Given the description of an element on the screen output the (x, y) to click on. 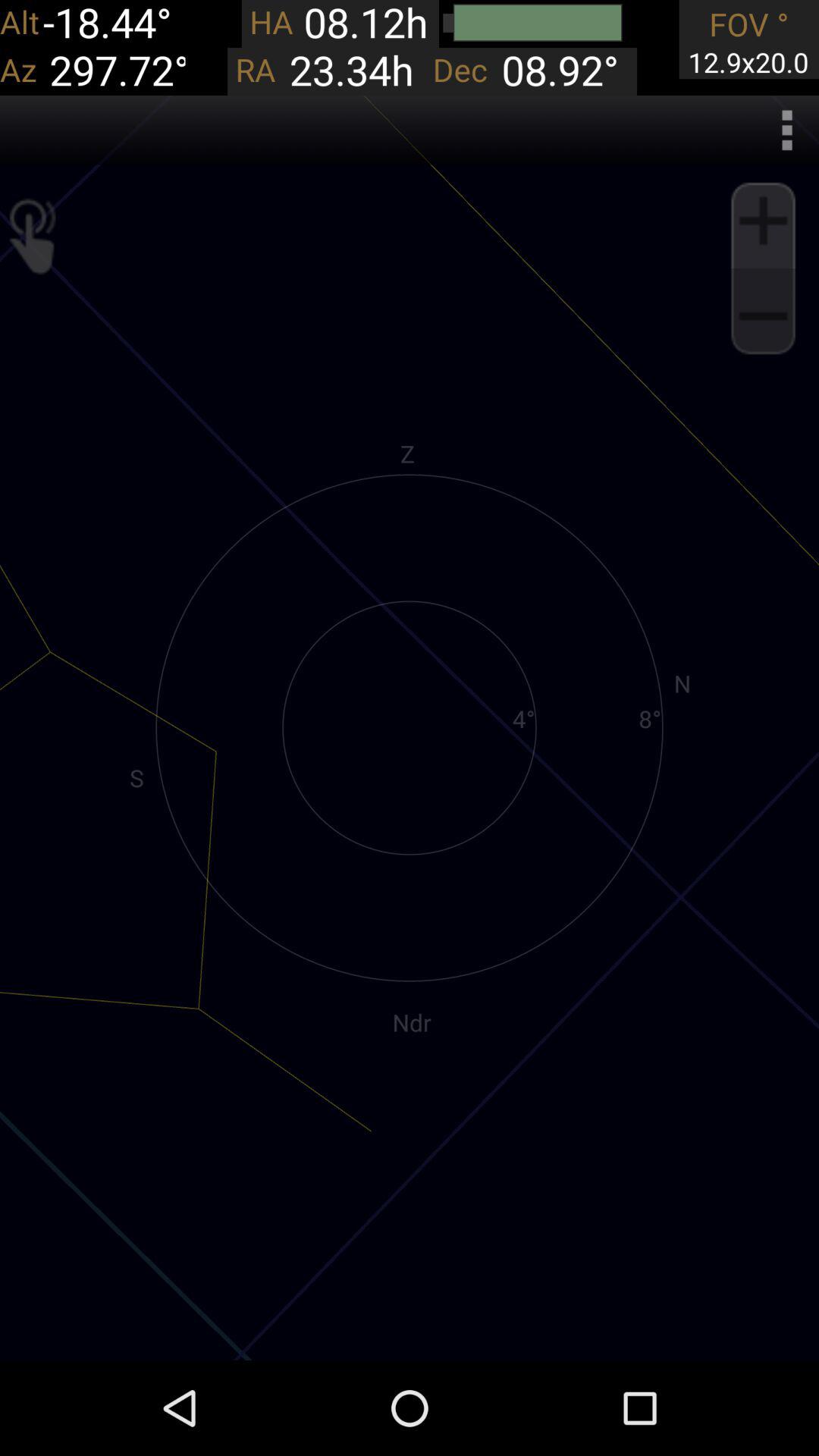
more options (787, 130)
